Given the description of an element on the screen output the (x, y) to click on. 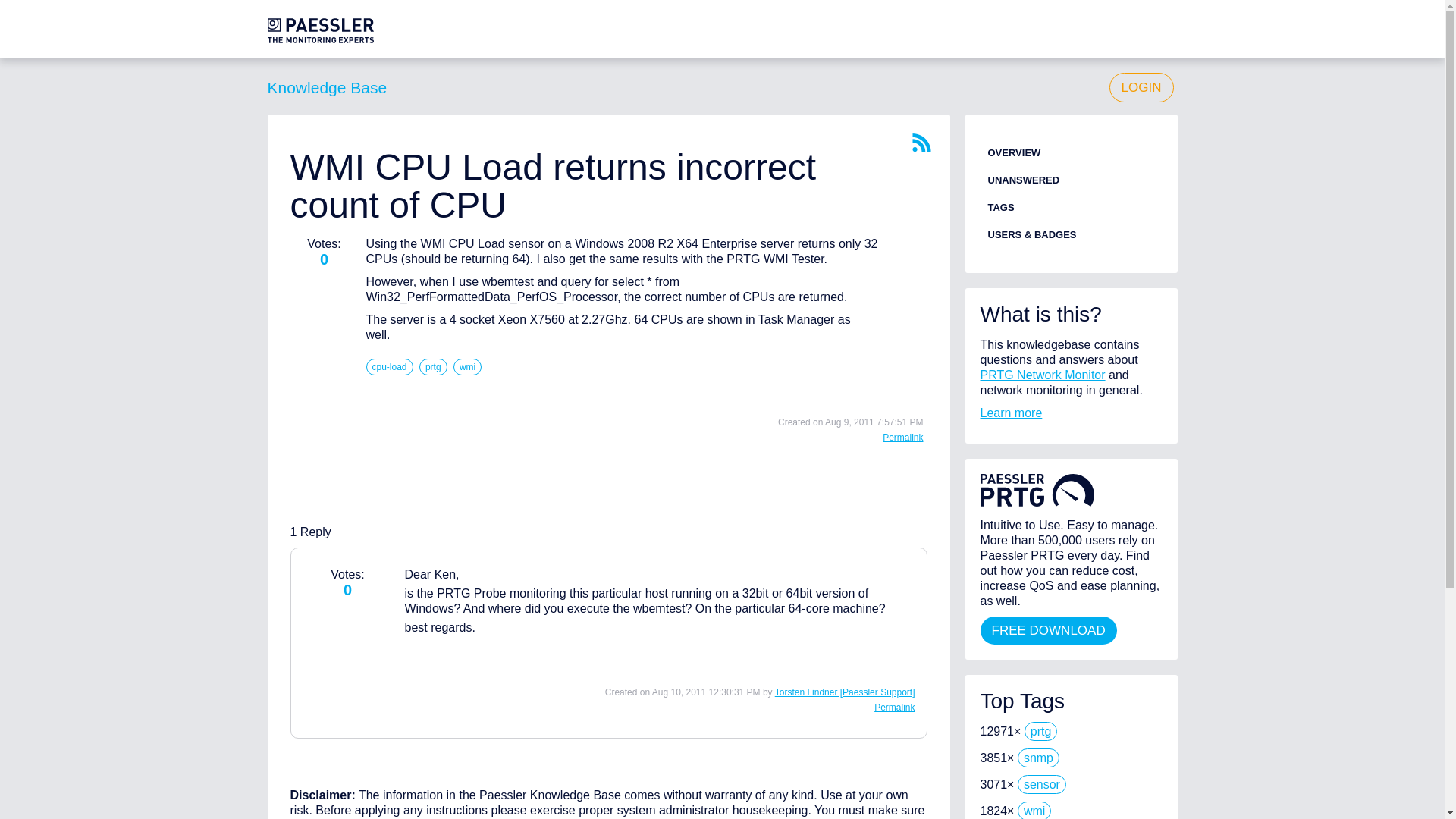
OVERVIEW (1014, 152)
FREE DOWNLOAD (1047, 630)
wmi (466, 366)
The feed for this page (921, 142)
prtg (432, 366)
cpu-load (388, 366)
Permalink (902, 437)
LOGIN (1141, 87)
Permalink to this reply (902, 437)
TAGS (1000, 206)
